Given the description of an element on the screen output the (x, y) to click on. 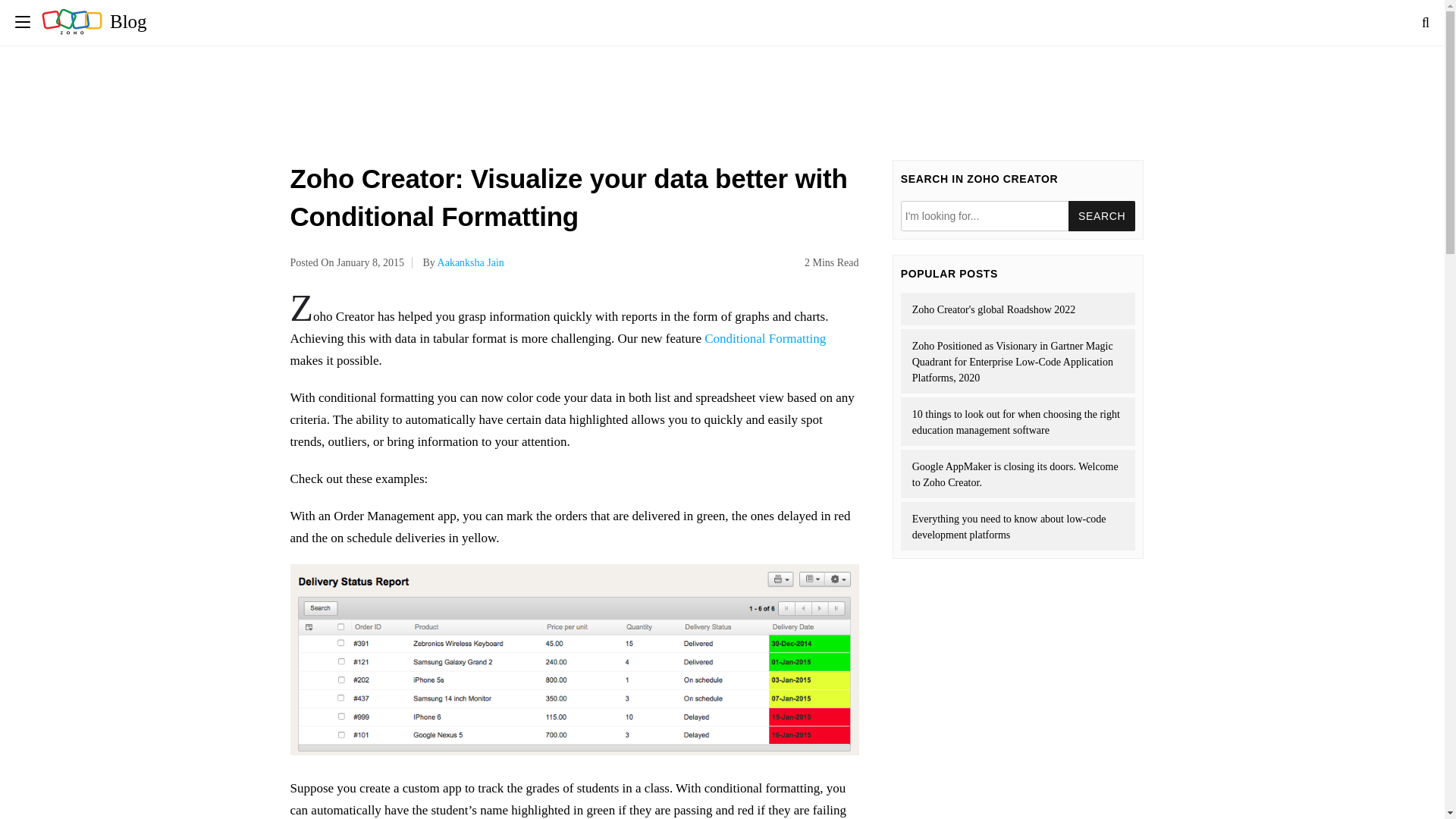
Conditional Formatting (764, 338)
Zoho Creator's global Roadshow 2022 (1018, 308)
Conditional Formatting (764, 338)
Search (1101, 215)
Aakanksha Jain (470, 262)
Search (1101, 215)
Blog (94, 21)
